Given the description of an element on the screen output the (x, y) to click on. 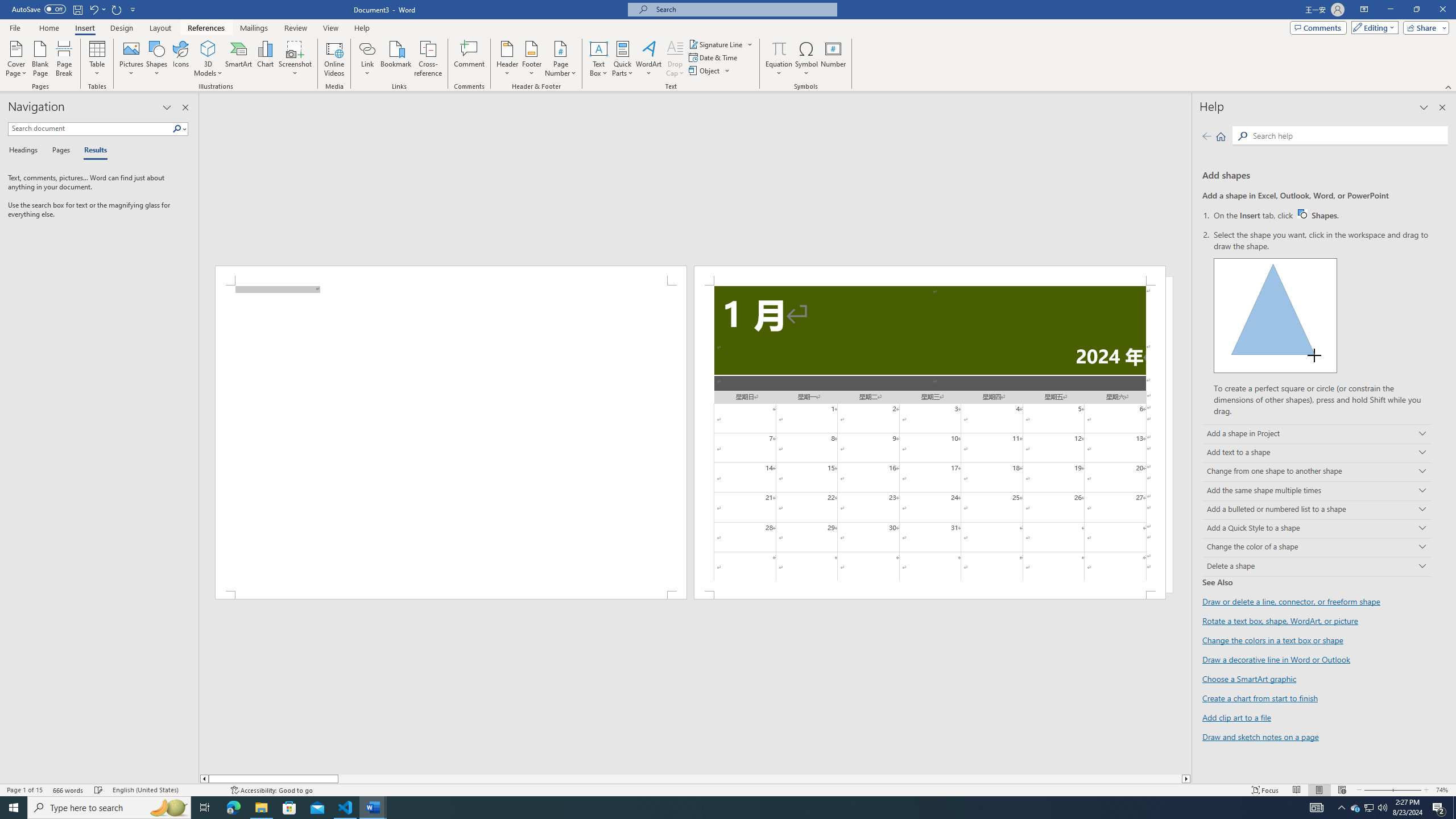
Column left (203, 778)
Pictures (131, 58)
Change the color of a shape (1316, 547)
Page right (759, 778)
Page Break (63, 58)
Footer (1322, 214)
Text Box (531, 58)
Signature Line (598, 58)
